Given the description of an element on the screen output the (x, y) to click on. 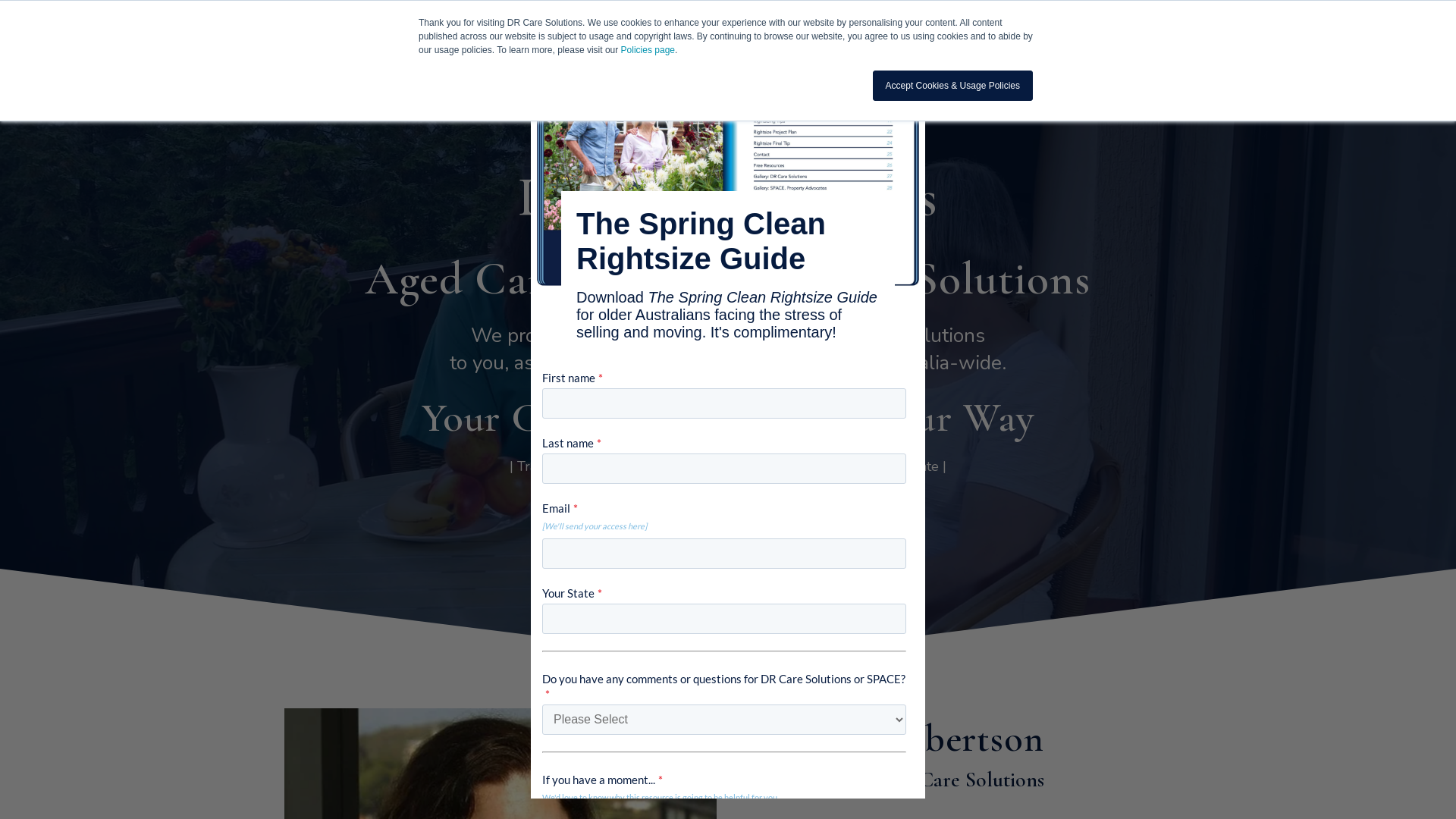
SERVICES Element type: text (731, 30)
TESTIMONIALS Element type: text (832, 30)
DR CARE SOLUTIONS Element type: text (489, 30)
OUR STORY Element type: text (636, 30)
CALL NOW Element type: text (1086, 31)
CONTACT US Element type: text (994, 30)
BLOG Element type: text (918, 30)
Accept Cookies & Usage Policies Element type: text (952, 85)
FREE RESOURCES Element type: text (822, 548)
BOOK A MEETING Element type: text (631, 548)
Policies page Element type: text (647, 49)
